Given the description of an element on the screen output the (x, y) to click on. 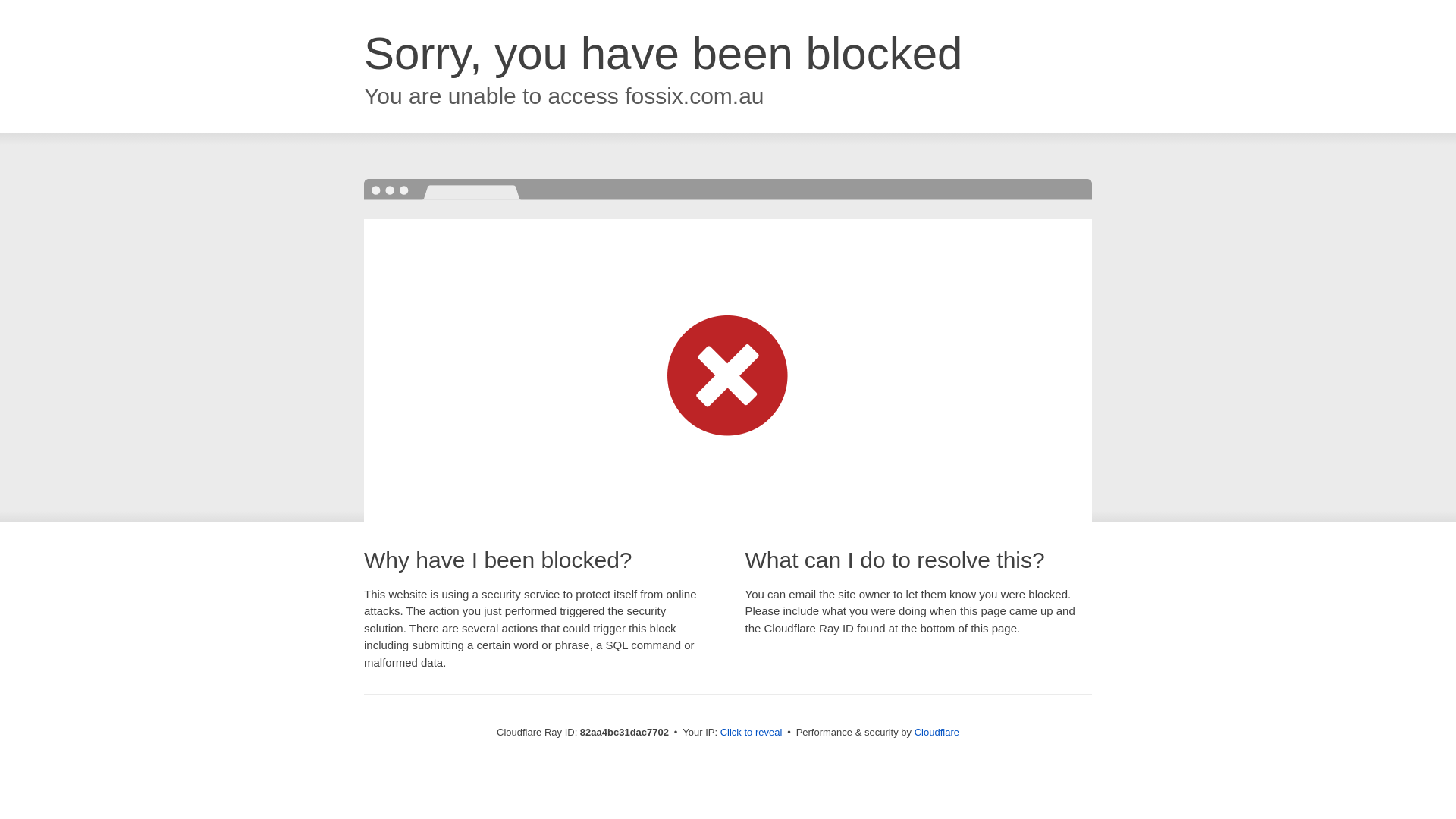
Cloudflare Element type: text (936, 731)
Click to reveal Element type: text (751, 732)
